Given the description of an element on the screen output the (x, y) to click on. 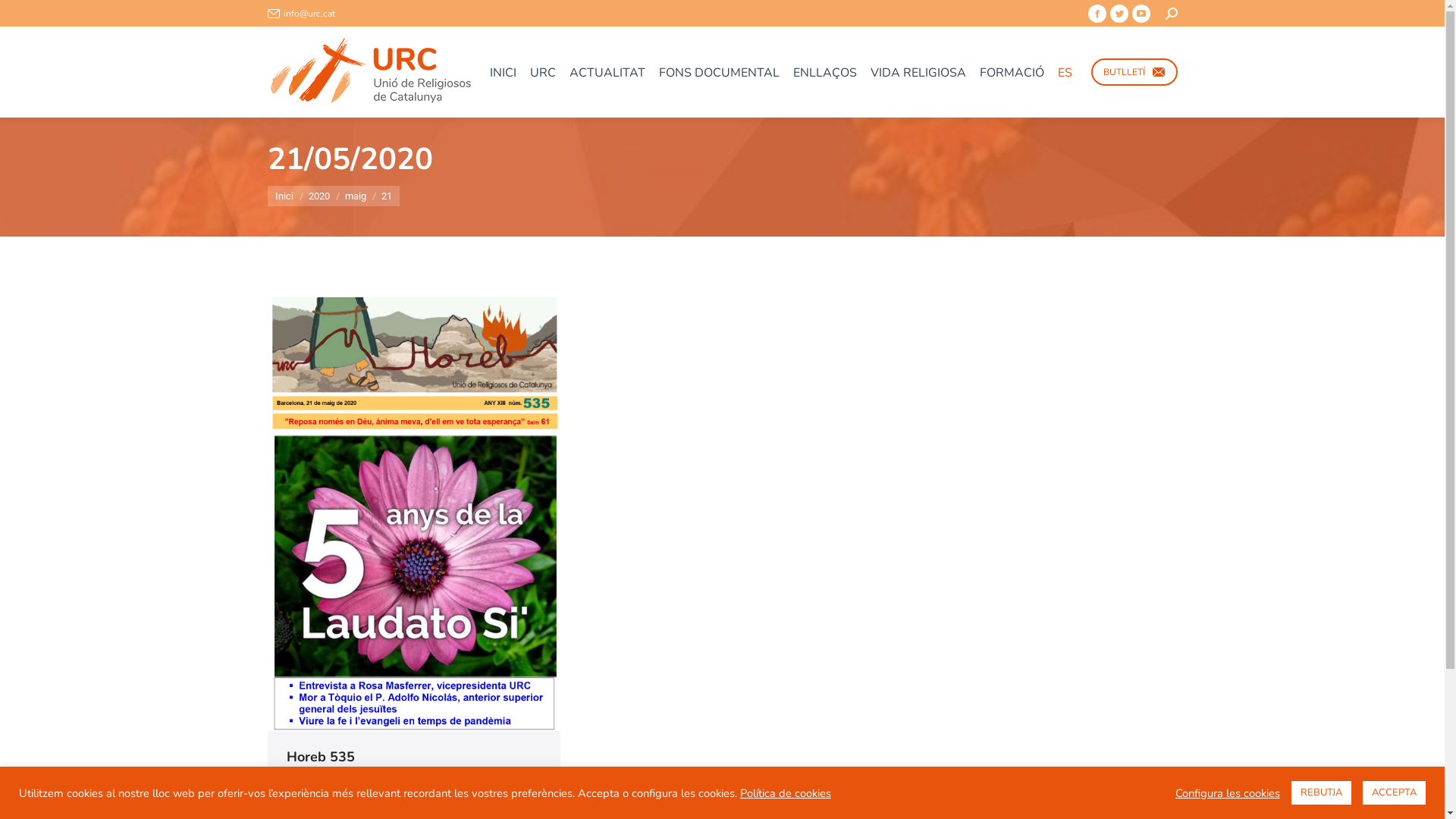
21/05/2020 Element type: text (320, 806)
Go! Element type: text (26, 16)
VIDA RELIGIOSA Element type: text (917, 71)
FONS DOCUMENTAL Element type: text (719, 71)
ACCEPTA Element type: text (1393, 792)
info@urc.cat Element type: text (300, 12)
Horeb Element type: text (303, 785)
ES Element type: text (1065, 71)
URC Element type: text (542, 71)
YouTube page opens in new window Element type: text (1140, 13)
Configura les cookies Element type: text (1227, 792)
Inici Element type: text (283, 195)
Facebook page opens in new window Element type: text (1096, 13)
By admin Element type: text (453, 785)
REBUTJA Element type: text (1321, 792)
Twitter page opens in new window Element type: text (1119, 13)
maig Element type: text (354, 195)
2020 Element type: text (318, 195)
Horeb 535 Element type: text (320, 756)
Horeb_0535_2020_05_21 Element type: hover (412, 514)
ACTUALITAT Element type: text (607, 71)
Sense categoria Element type: text (369, 785)
INICI Element type: text (502, 71)
